Given the description of an element on the screen output the (x, y) to click on. 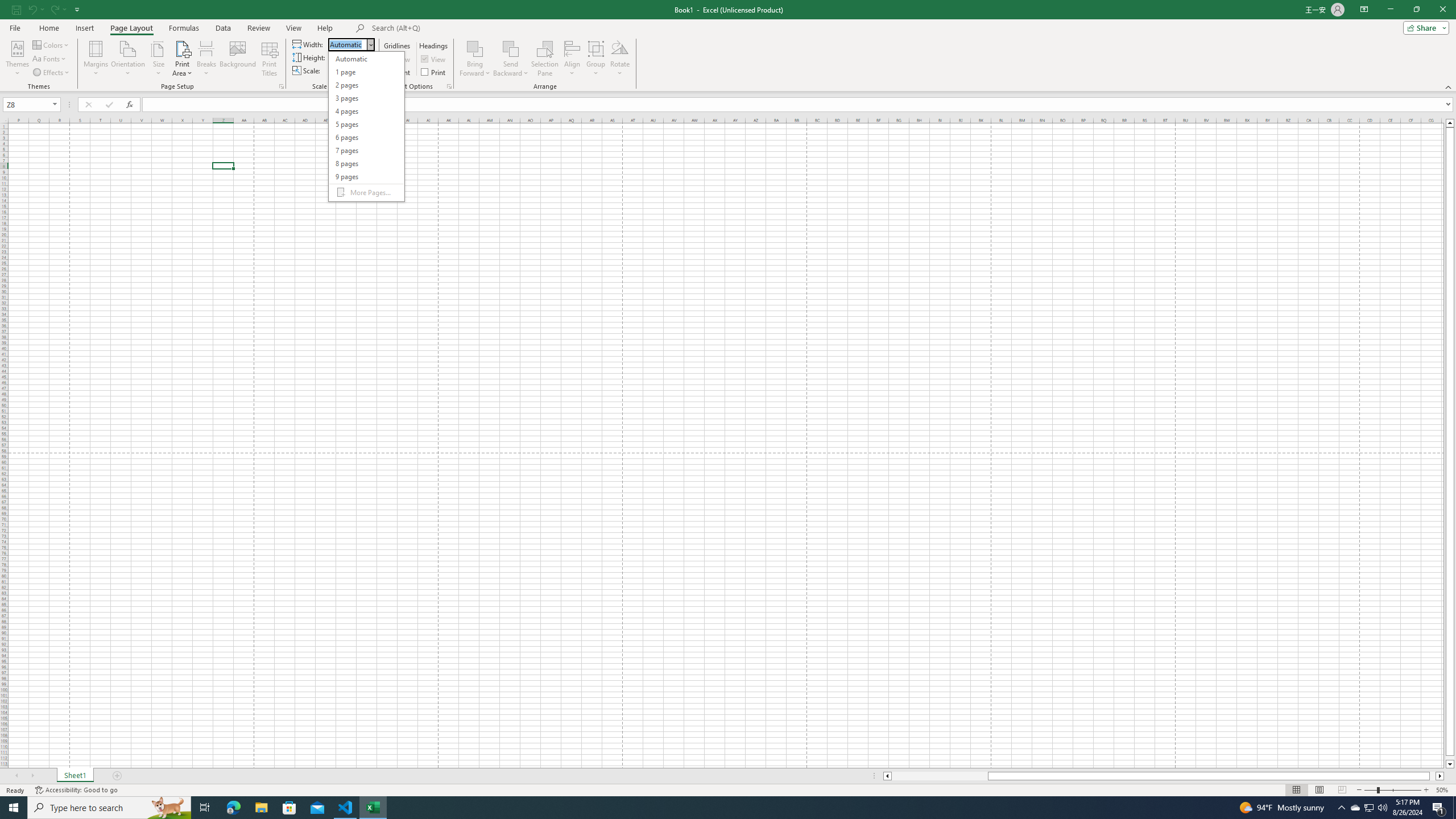
7 pages (366, 150)
4 pages (366, 110)
View (293, 28)
Open (54, 104)
Bring Forward (475, 48)
3 pages (366, 97)
Height (347, 57)
System (6, 6)
Redo (57, 9)
Collapse the Ribbon (1448, 86)
5 pages (366, 124)
9 pages (366, 176)
Selection Pane... (544, 58)
Themes (17, 58)
